Given the description of an element on the screen output the (x, y) to click on. 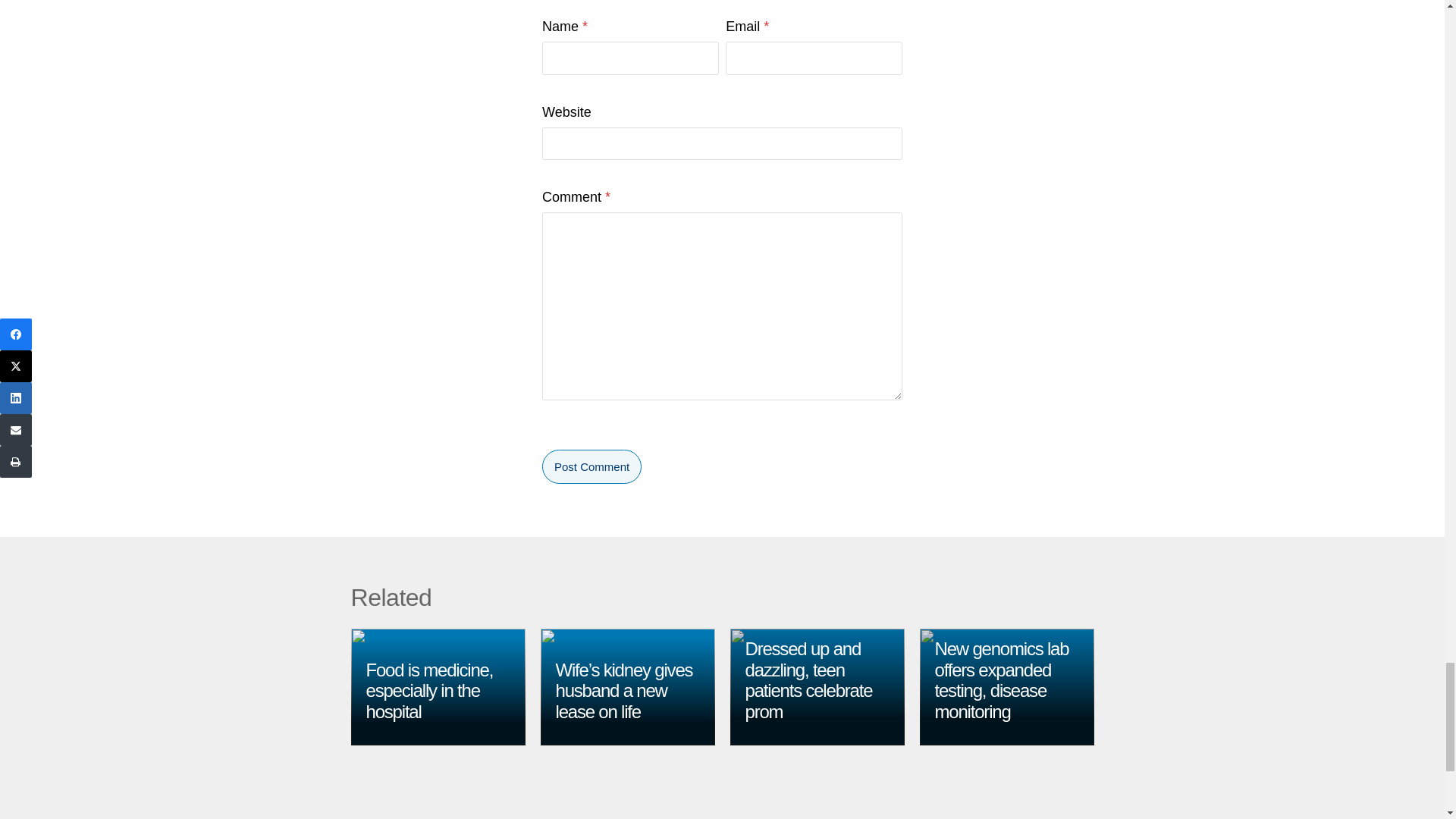
New genomics lab offers expanded testing, disease monitoring (1001, 679)
Dressed up and dazzling, teen patients celebrate prom (808, 679)
Post Comment (591, 466)
Post Comment (591, 466)
Food is medicine, especially in the hospital (429, 690)
Dressed up and dazzling, teen patients celebrate prom (808, 679)
Food is medicine, especially in the hospital (429, 690)
